Given the description of an element on the screen output the (x, y) to click on. 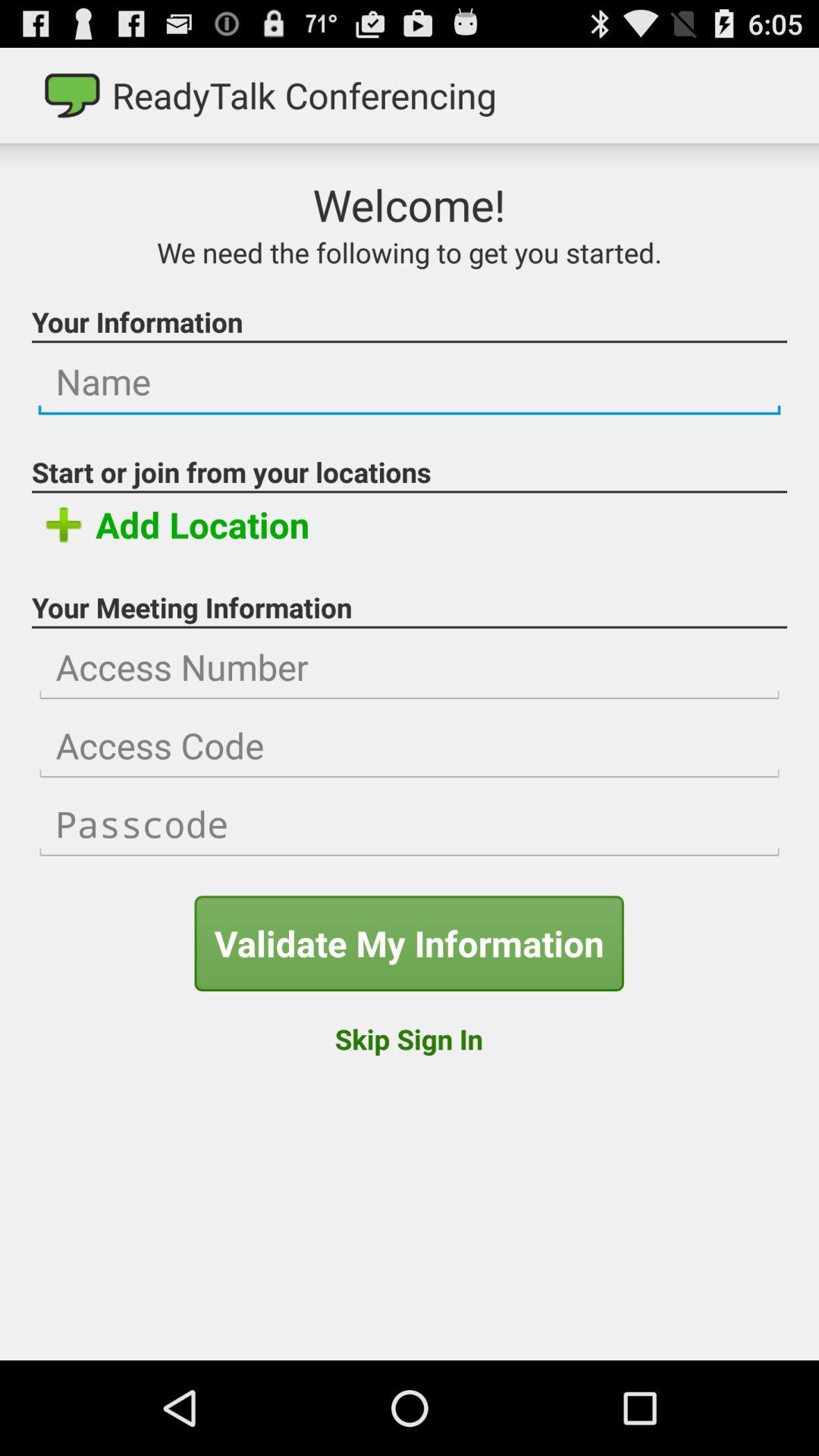
type your access number (409, 667)
